Given the description of an element on the screen output the (x, y) to click on. 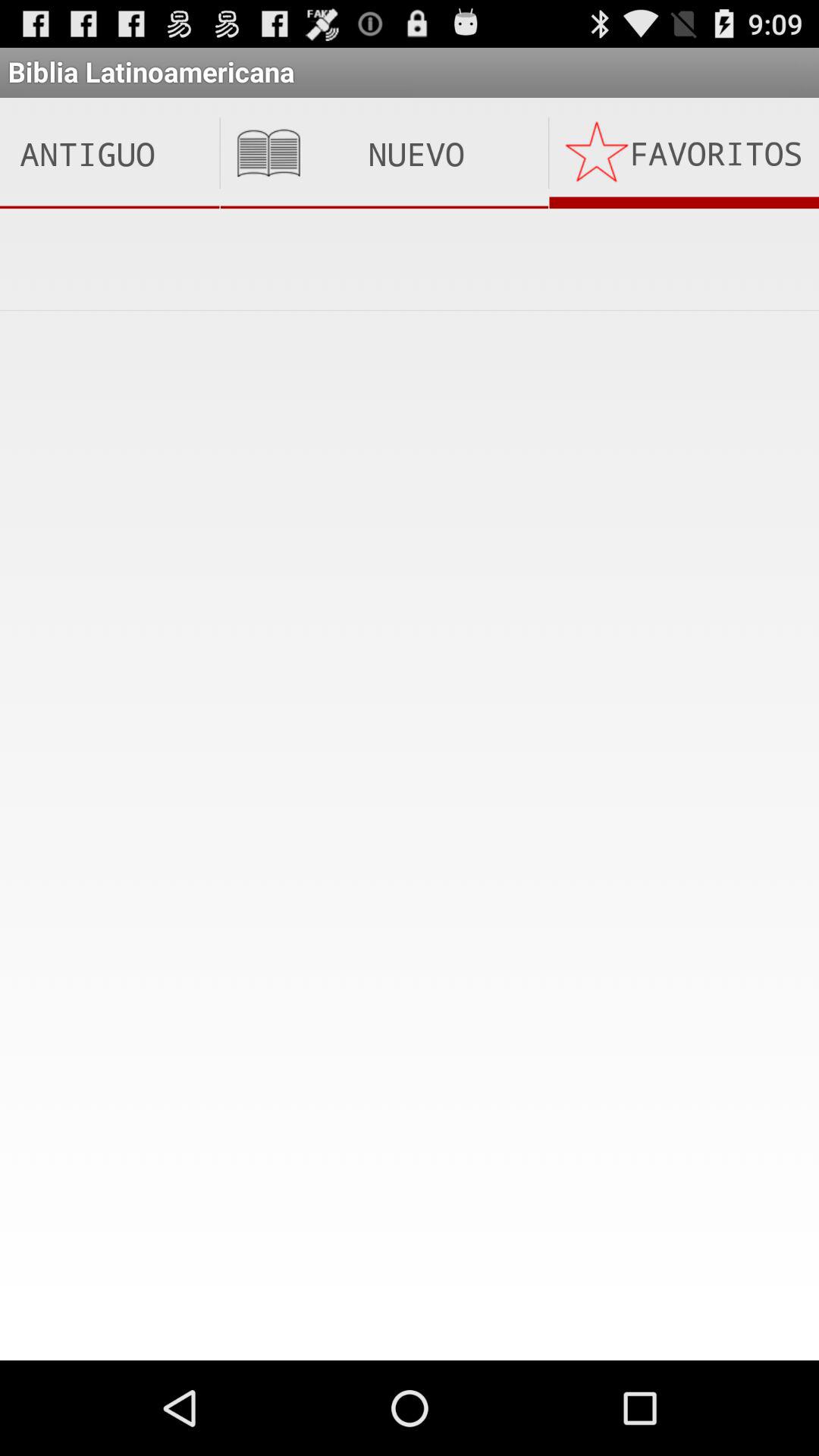
jump to the nuevo testamento (384, 152)
